Given the description of an element on the screen output the (x, y) to click on. 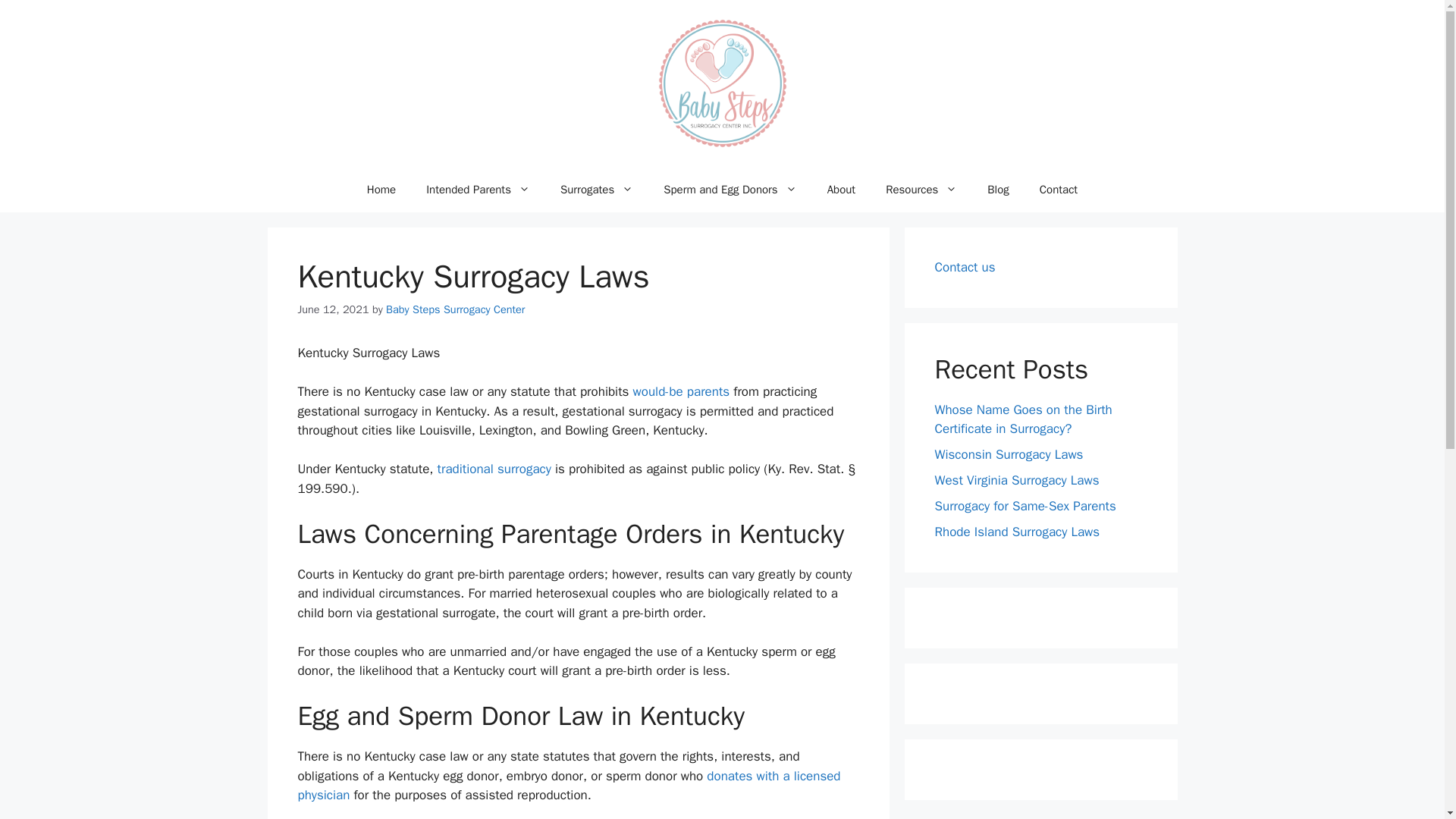
donates with a licensed physician (568, 785)
Intended Parents (477, 189)
Home (381, 189)
traditional surrogacy (494, 468)
would-be parents (681, 391)
Resources (921, 189)
Contact (1059, 189)
View all posts by Baby Steps Surrogacy Center (454, 309)
Baby Steps Surrogacy Center (454, 309)
Surrogates (595, 189)
